Given the description of an element on the screen output the (x, y) to click on. 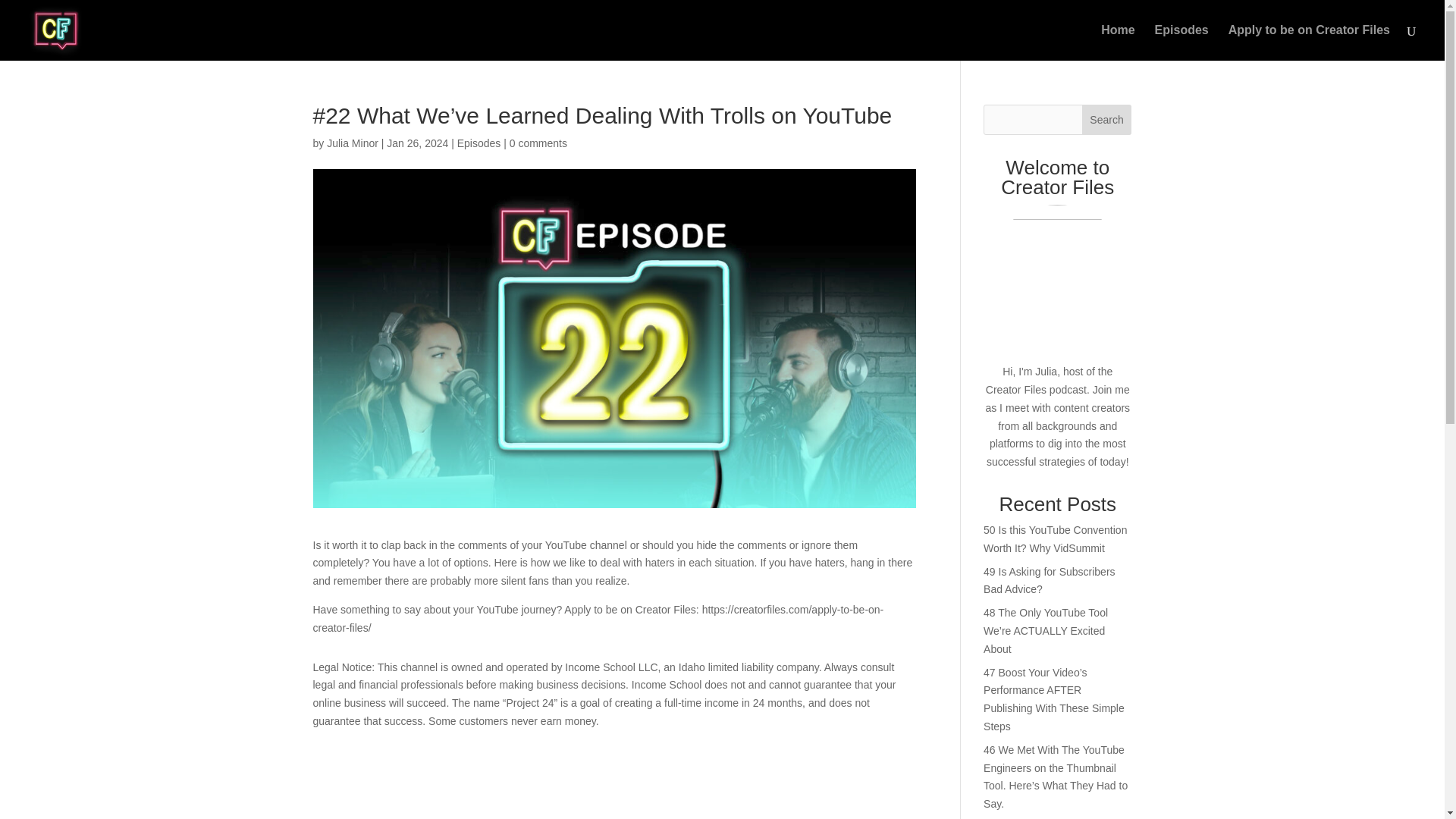
Episodes (1181, 42)
Apply to be on Creator Files (1309, 42)
0 comments (538, 143)
Search (1106, 119)
Julia Minor (352, 143)
Blubrry Podcast Player (614, 780)
Posts by Julia Minor (352, 143)
50 Is this YouTube Convention Worth It? Why VidSummit (1055, 539)
Episodes (478, 143)
49 Is Asking for Subscribers Bad Advice? (1049, 580)
